Given the description of an element on the screen output the (x, y) to click on. 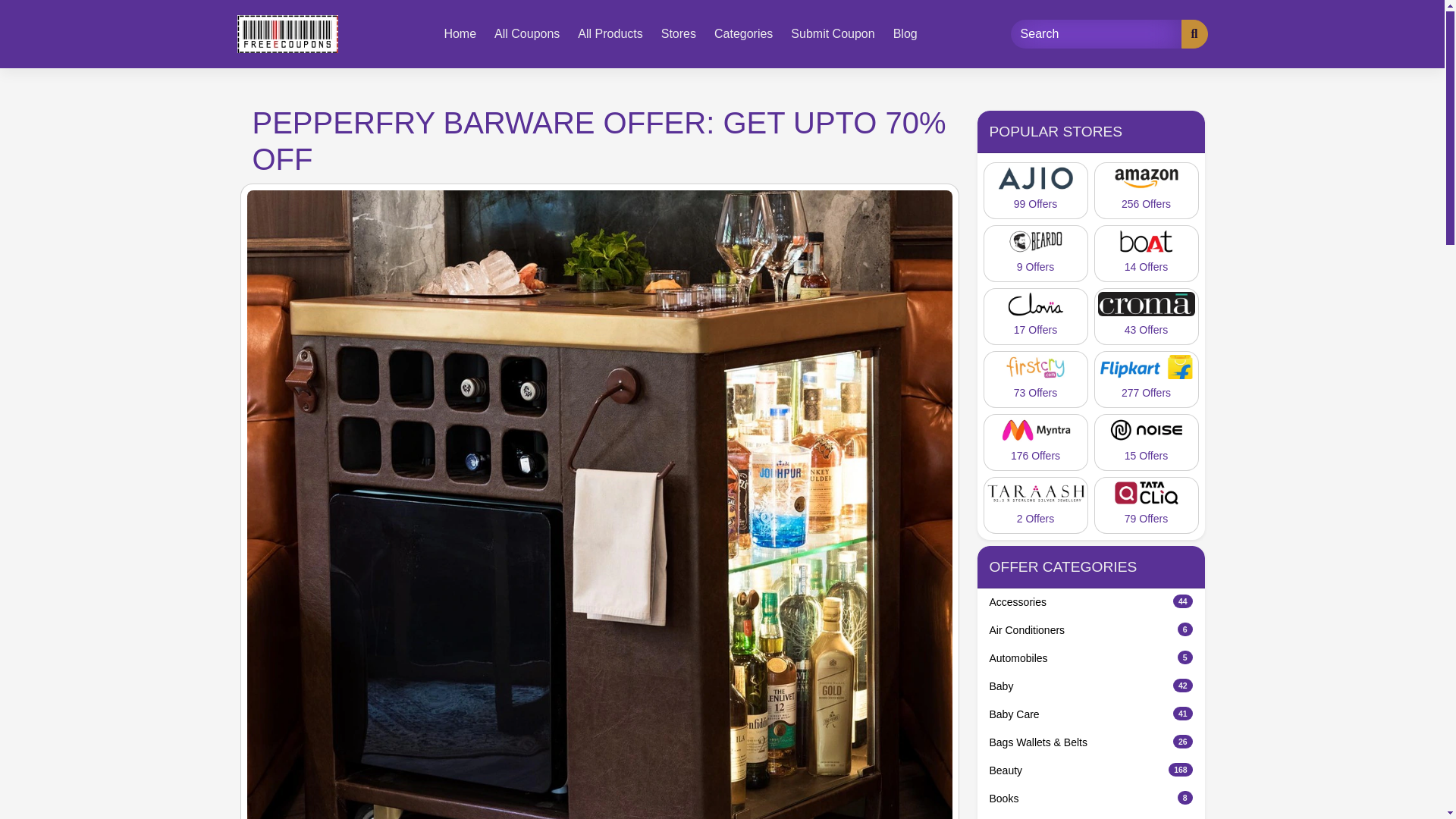
17 Offers (1034, 316)
277 Offers (1145, 379)
256 Offers (1145, 190)
Blog (904, 33)
Home (459, 33)
Home (459, 33)
Submit Coupon (1090, 686)
14 Offers (1090, 630)
